Given the description of an element on the screen output the (x, y) to click on. 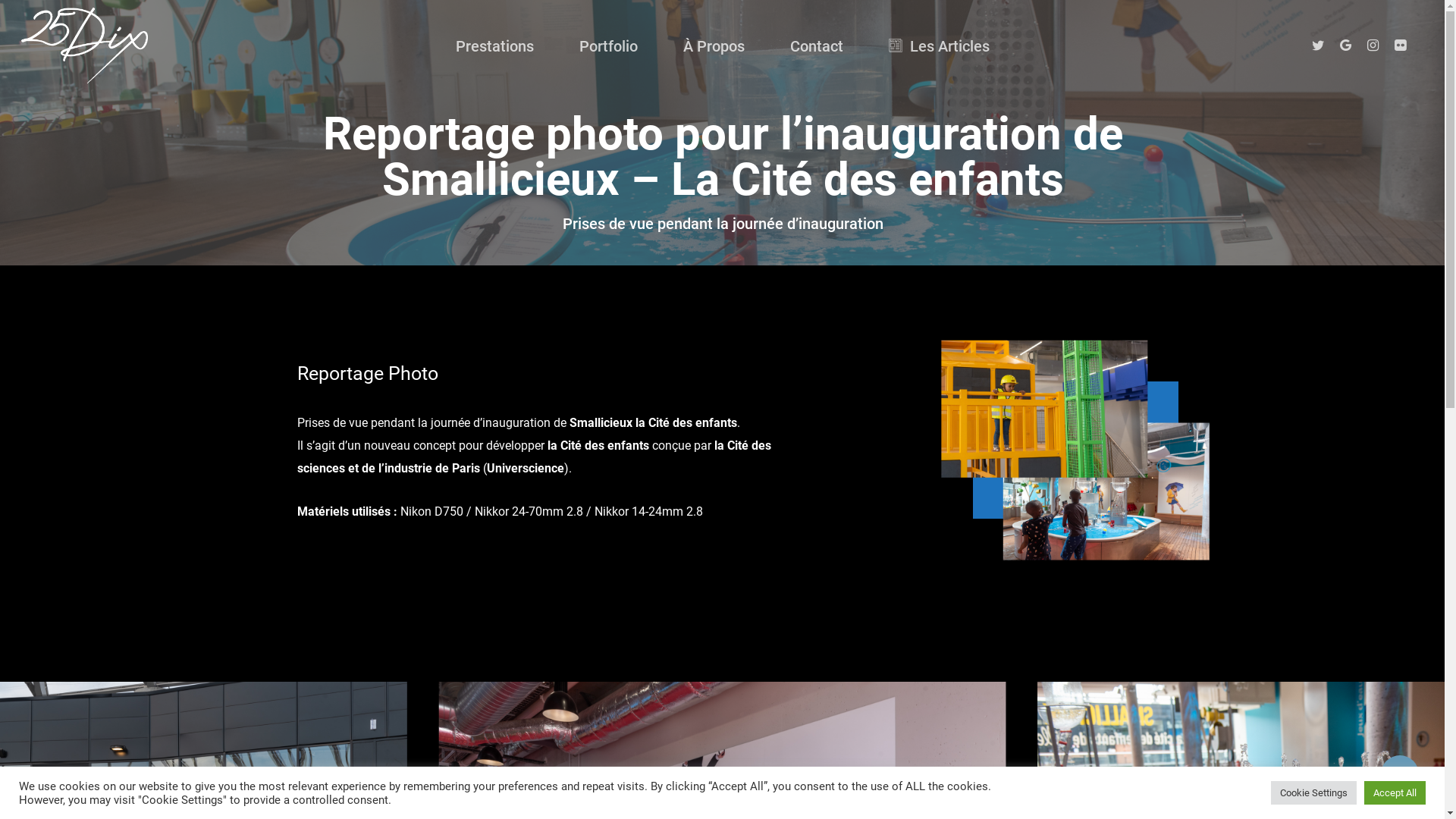
pinterest Element type: text (669, 665)
Contact Element type: text (816, 45)
Prestations Element type: text (494, 45)
facebook Element type: text (616, 665)
instagram Element type: text (828, 665)
Accept All Element type: text (1394, 792)
linkedin Element type: text (722, 665)
Cookie Settings Element type: text (1313, 792)
Flickr Element type: text (1399, 45)
google-plus Element type: text (775, 665)
Twitter Element type: text (1317, 45)
twitter Element type: text (563, 665)
Google-Plus Element type: text (1344, 45)
Portfolio Element type: text (608, 45)
Les Articles Element type: text (938, 45)
Instagram Element type: text (1372, 45)
flickr Element type: text (881, 665)
